Given the description of an element on the screen output the (x, y) to click on. 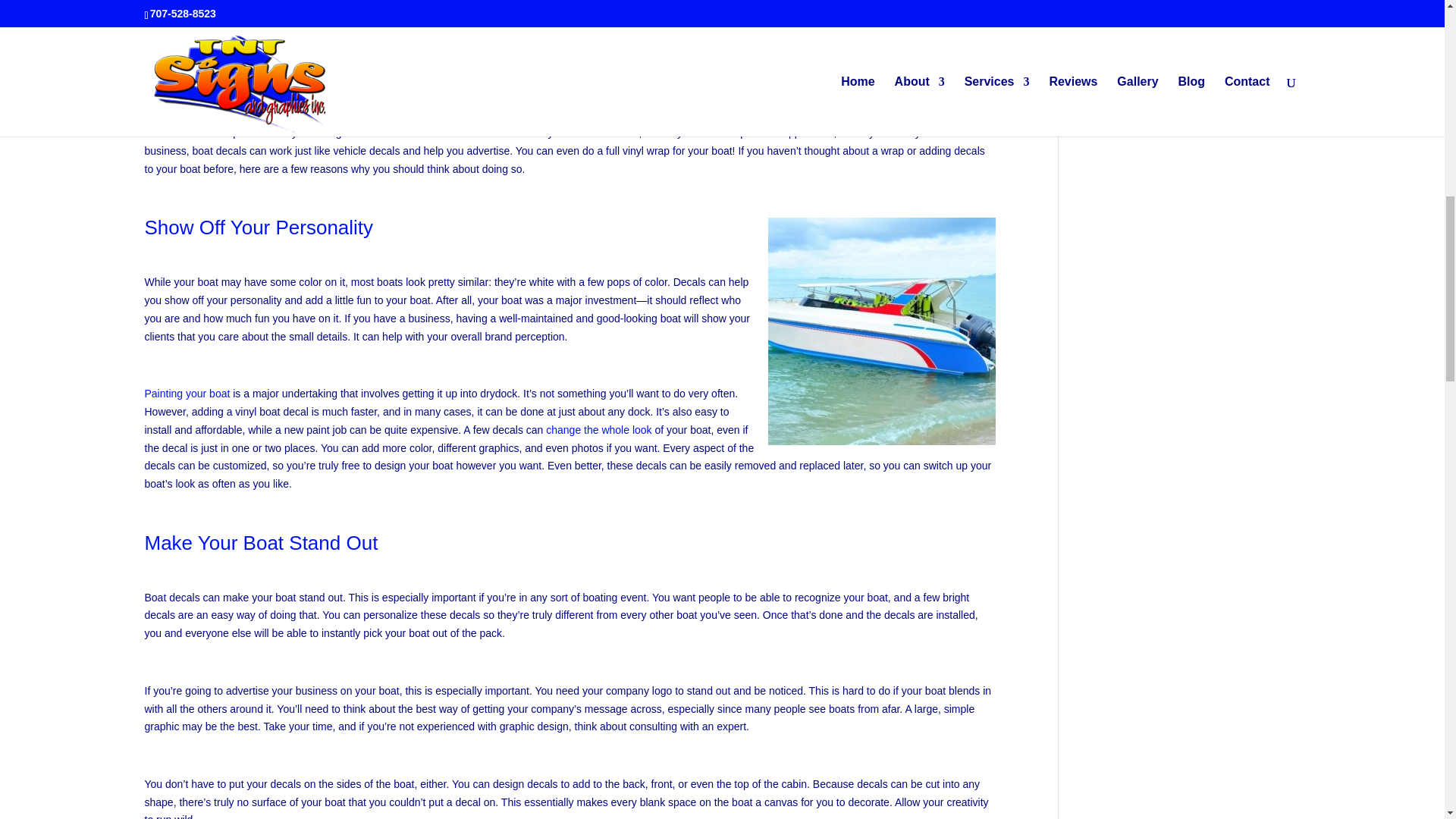
change the whole look (598, 429)
a few boat decals (384, 132)
Painting your boat (187, 393)
